Given the description of an element on the screen output the (x, y) to click on. 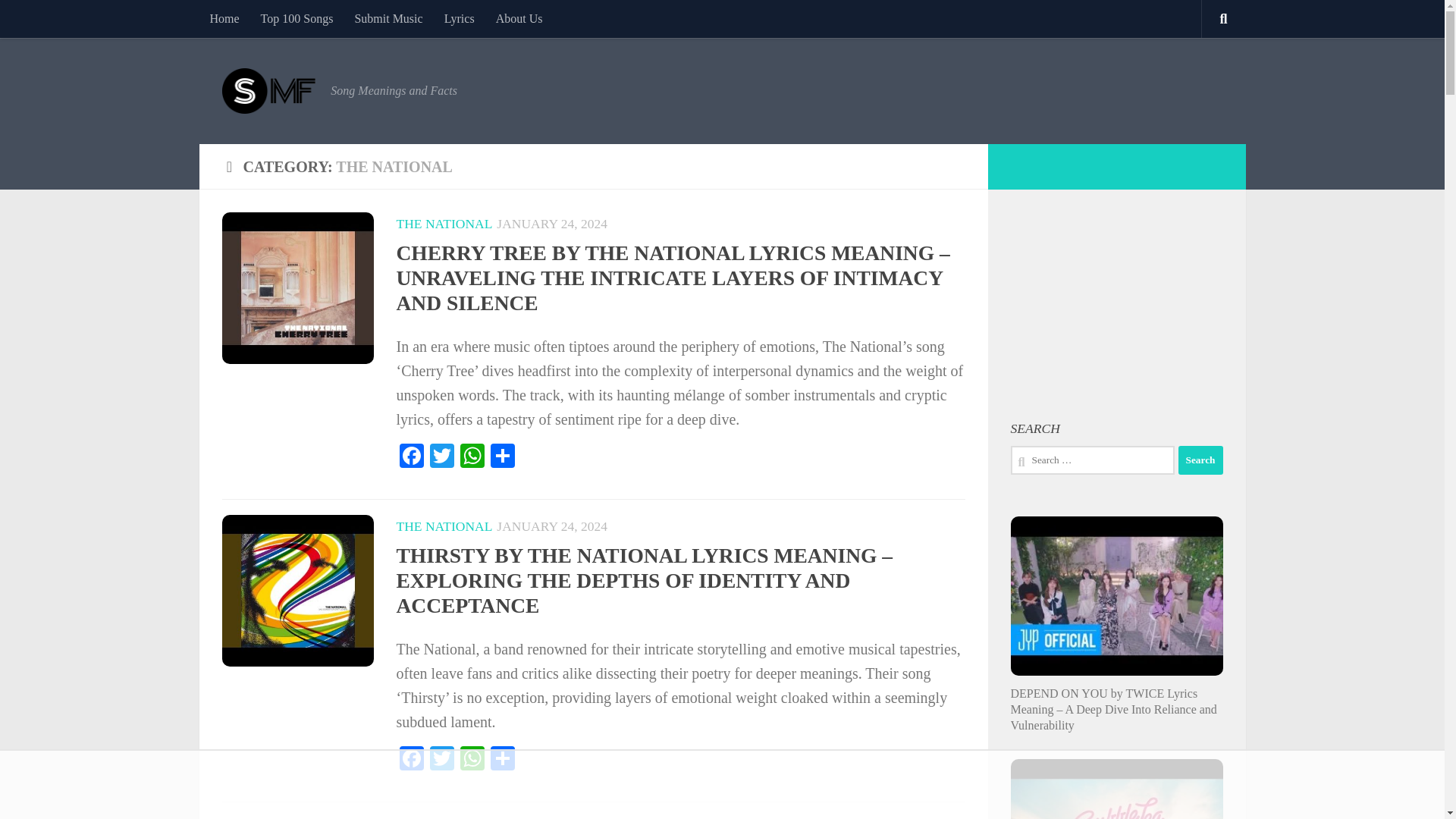
WhatsApp (471, 457)
Twitter (441, 457)
WhatsApp (471, 759)
WhatsApp (471, 457)
Twitter (441, 759)
Lyrics (458, 18)
Facebook (411, 759)
About Us (518, 18)
THE NATIONAL (444, 223)
Facebook (411, 759)
WhatsApp (471, 759)
Twitter (441, 457)
Search (1200, 460)
Facebook (411, 457)
Share (501, 457)
